Given the description of an element on the screen output the (x, y) to click on. 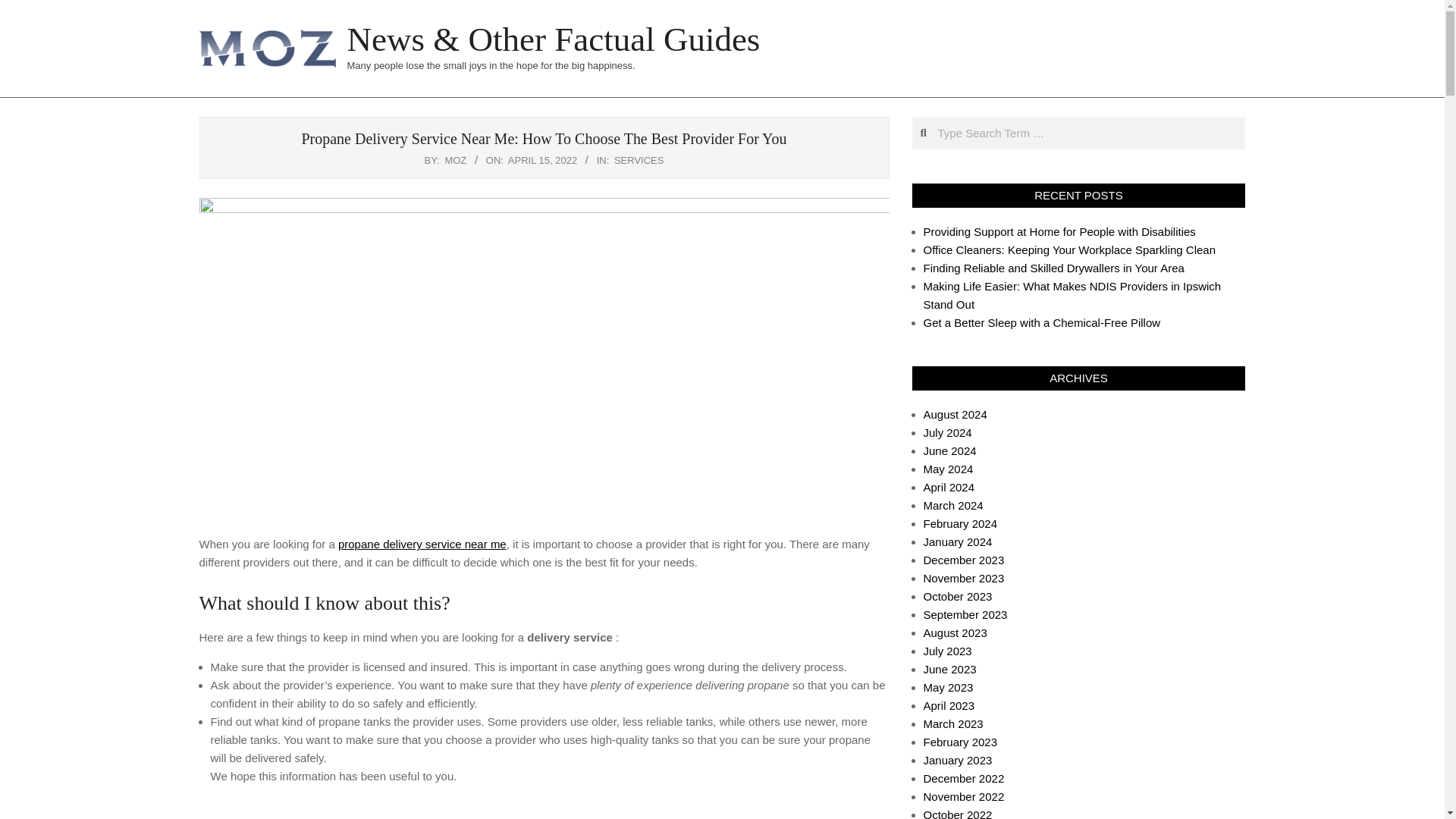
November 2022 (963, 796)
Finding Reliable and Skilled Drywallers in Your Area (1054, 267)
Posts by Moz (454, 160)
June 2023 (949, 668)
April 2023 (949, 705)
SERVICES (638, 160)
August 2024 (955, 413)
July 2024 (947, 431)
September 2023 (965, 614)
March 2024 (953, 504)
